Given the description of an element on the screen output the (x, y) to click on. 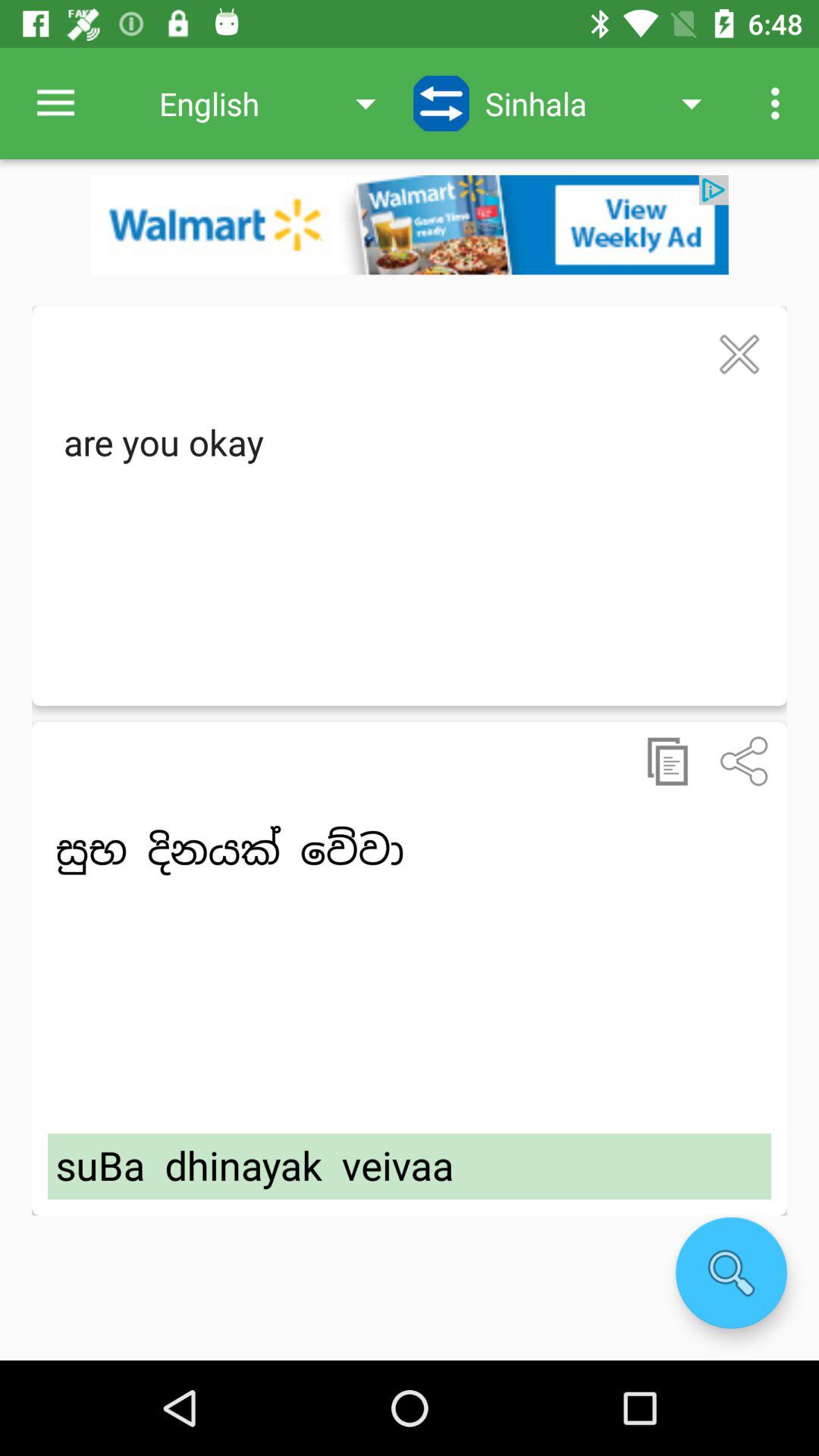
search button (731, 1272)
